Given the description of an element on the screen output the (x, y) to click on. 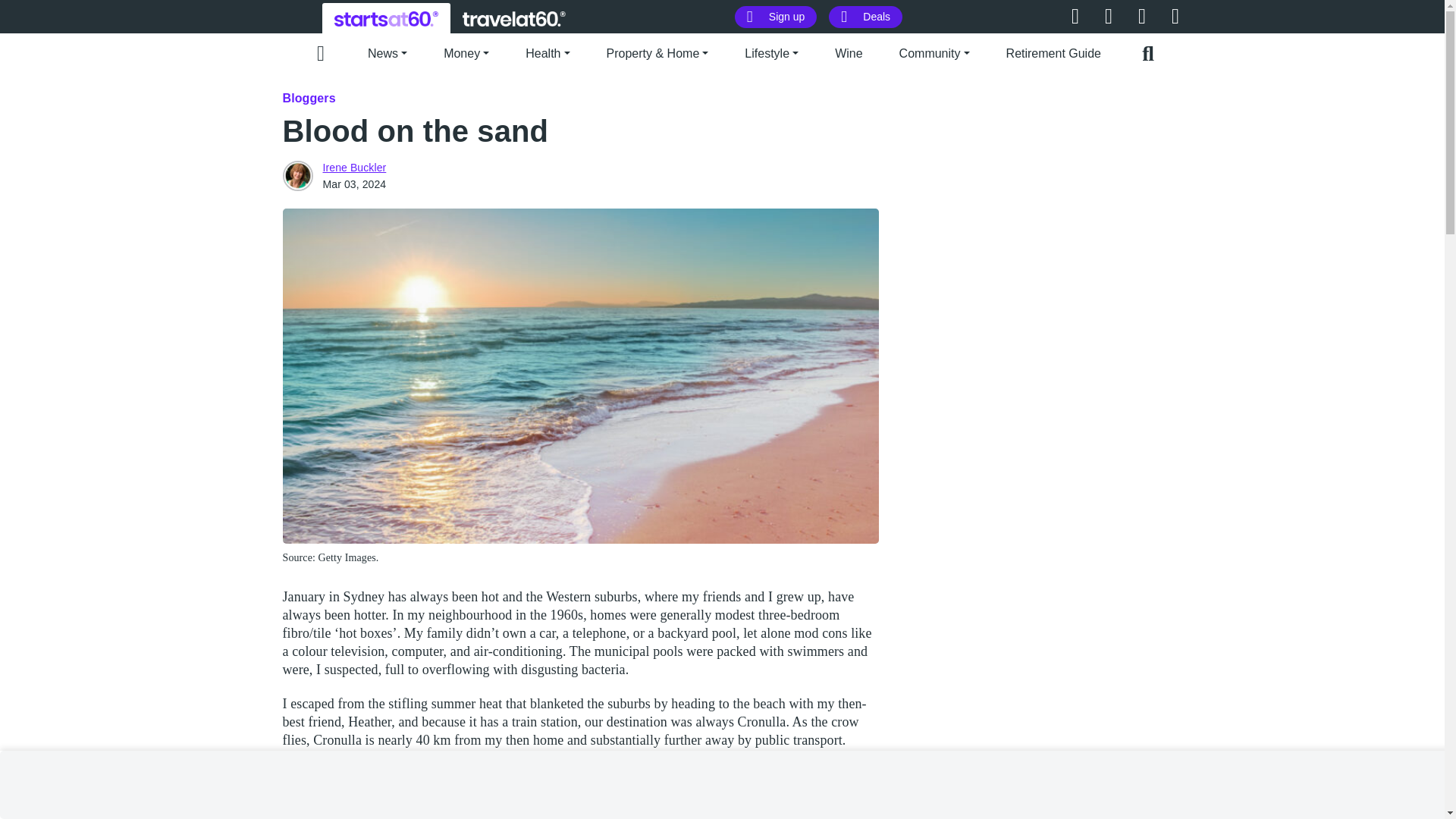
Deals (865, 16)
Irene Buckler (297, 175)
Hi !  (514, 18)
Sign up (775, 16)
Irene Buckler (355, 167)
Health (547, 51)
News (387, 51)
Hi !  (386, 18)
Money (466, 51)
Bloggers (308, 97)
